Given the description of an element on the screen output the (x, y) to click on. 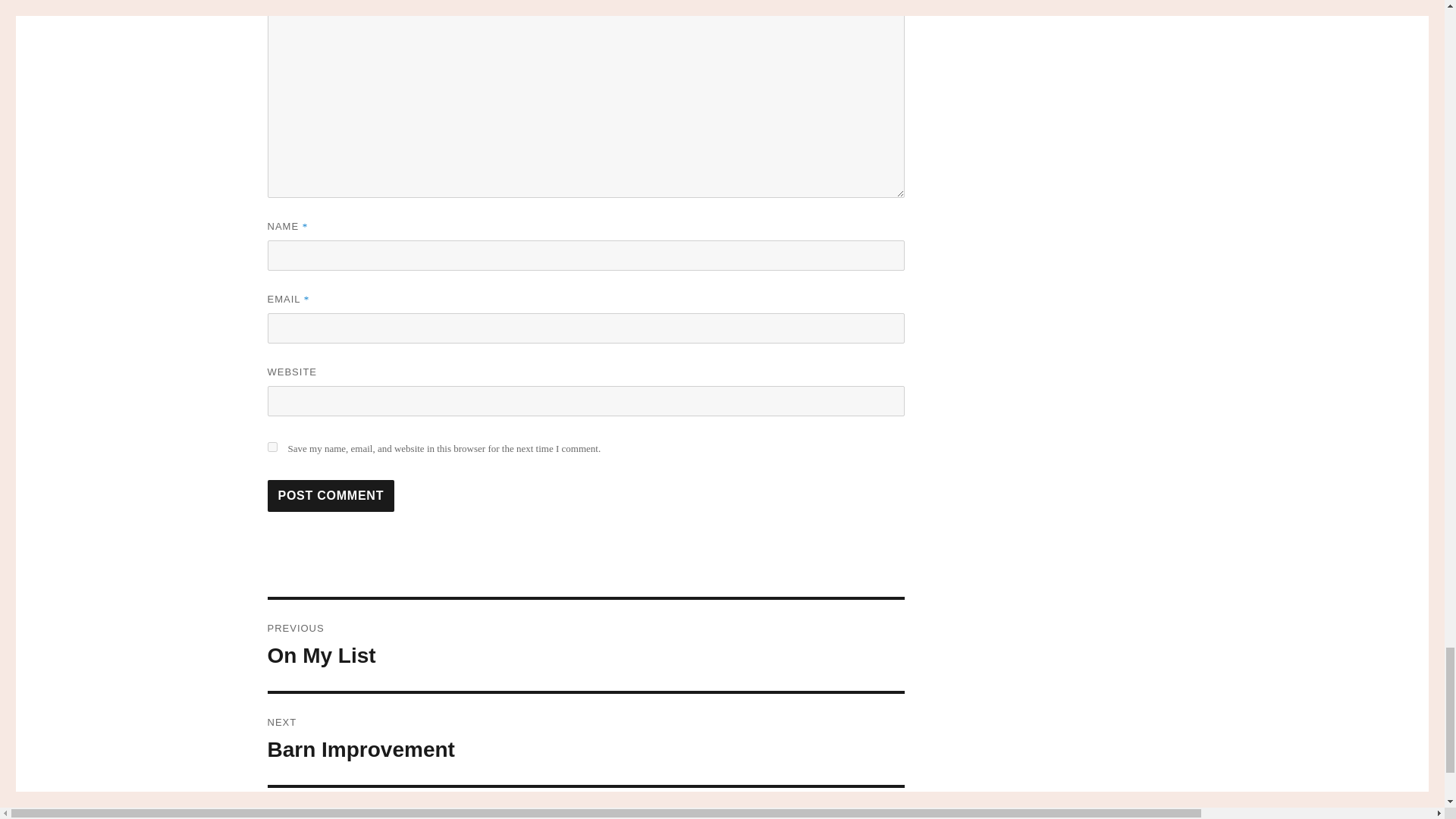
Post Comment (585, 645)
yes (585, 738)
Post Comment (330, 495)
